Given the description of an element on the screen output the (x, y) to click on. 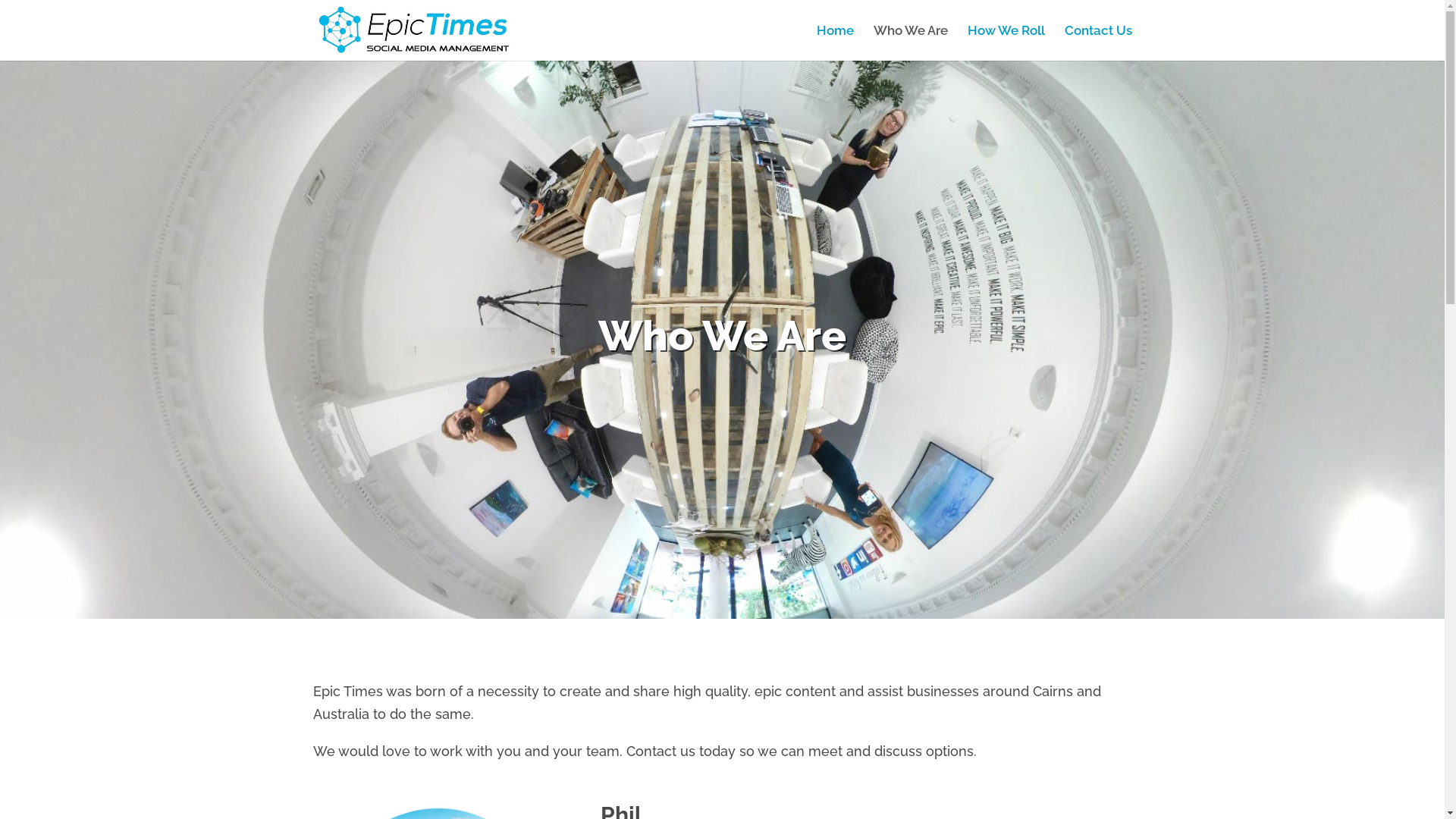
How We Roll Element type: text (1005, 42)
Who We Are Element type: text (910, 42)
Contact Us Element type: text (1098, 42)
Home Element type: text (834, 42)
